Given the description of an element on the screen output the (x, y) to click on. 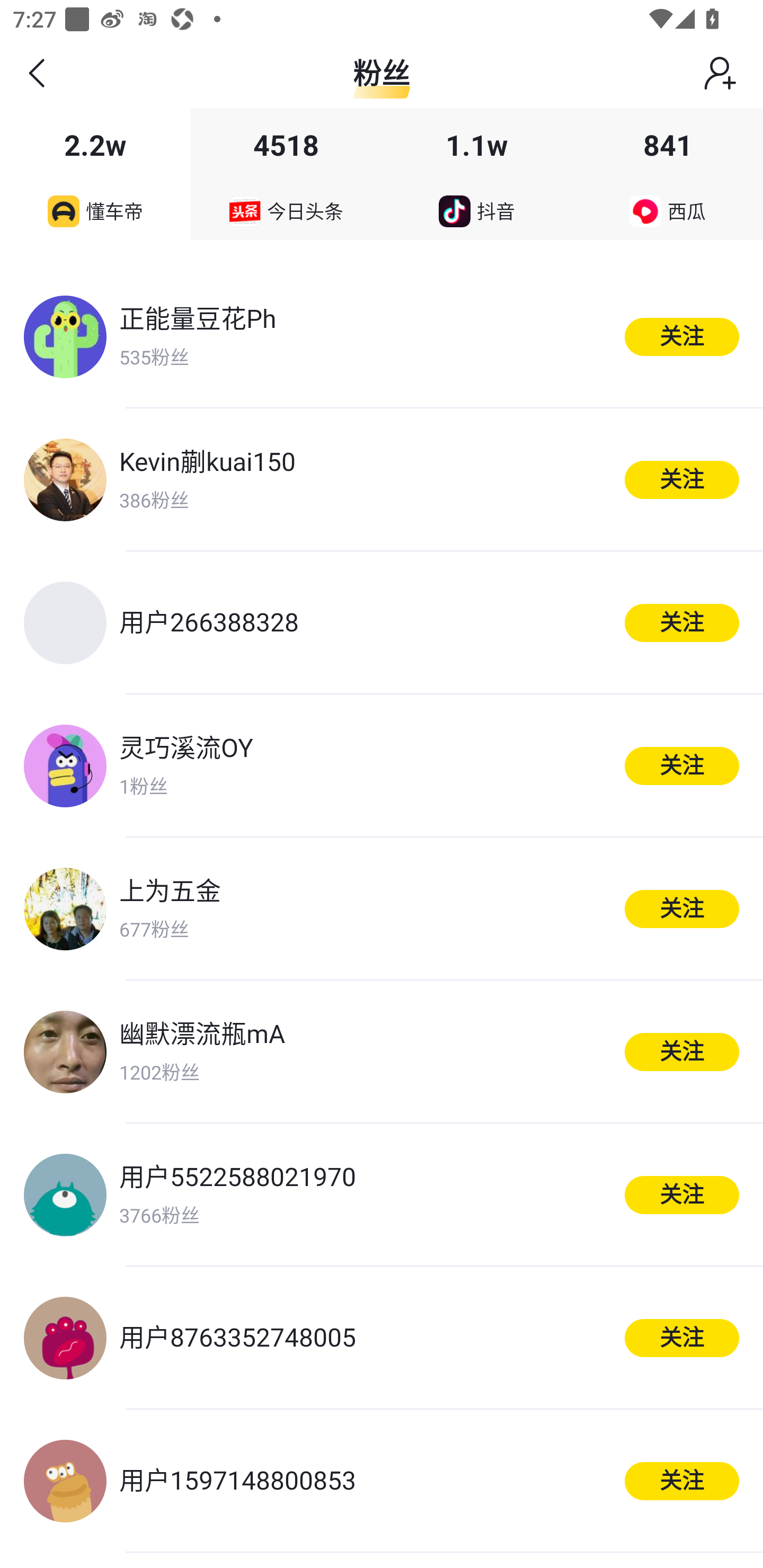
2.2w 懂车帝 (95, 173)
4518 今日头条 (285, 173)
1.1w 抖音 (476, 173)
841 西瓜 (667, 173)
正能量豆花Ph 535粉丝 关注 (381, 335)
关注 (681, 336)
Kevin蒯kuai150 386粉丝 关注 (381, 479)
关注 (681, 479)
用户266388328 关注 (381, 622)
关注 (681, 622)
灵巧溪流OY 1粉丝 关注 (381, 765)
关注 (681, 765)
上为五金 677粉丝 关注 (381, 908)
关注 (681, 909)
幽默漂流瓶mA 1202粉丝 关注 (381, 1052)
关注 (681, 1051)
用户5522588021970 3766粉丝 关注 (381, 1195)
关注 (681, 1194)
用户8763352748005 关注 (381, 1337)
关注 (681, 1337)
用户1597148800853 关注 (381, 1480)
关注 (681, 1480)
